Given the description of an element on the screen output the (x, y) to click on. 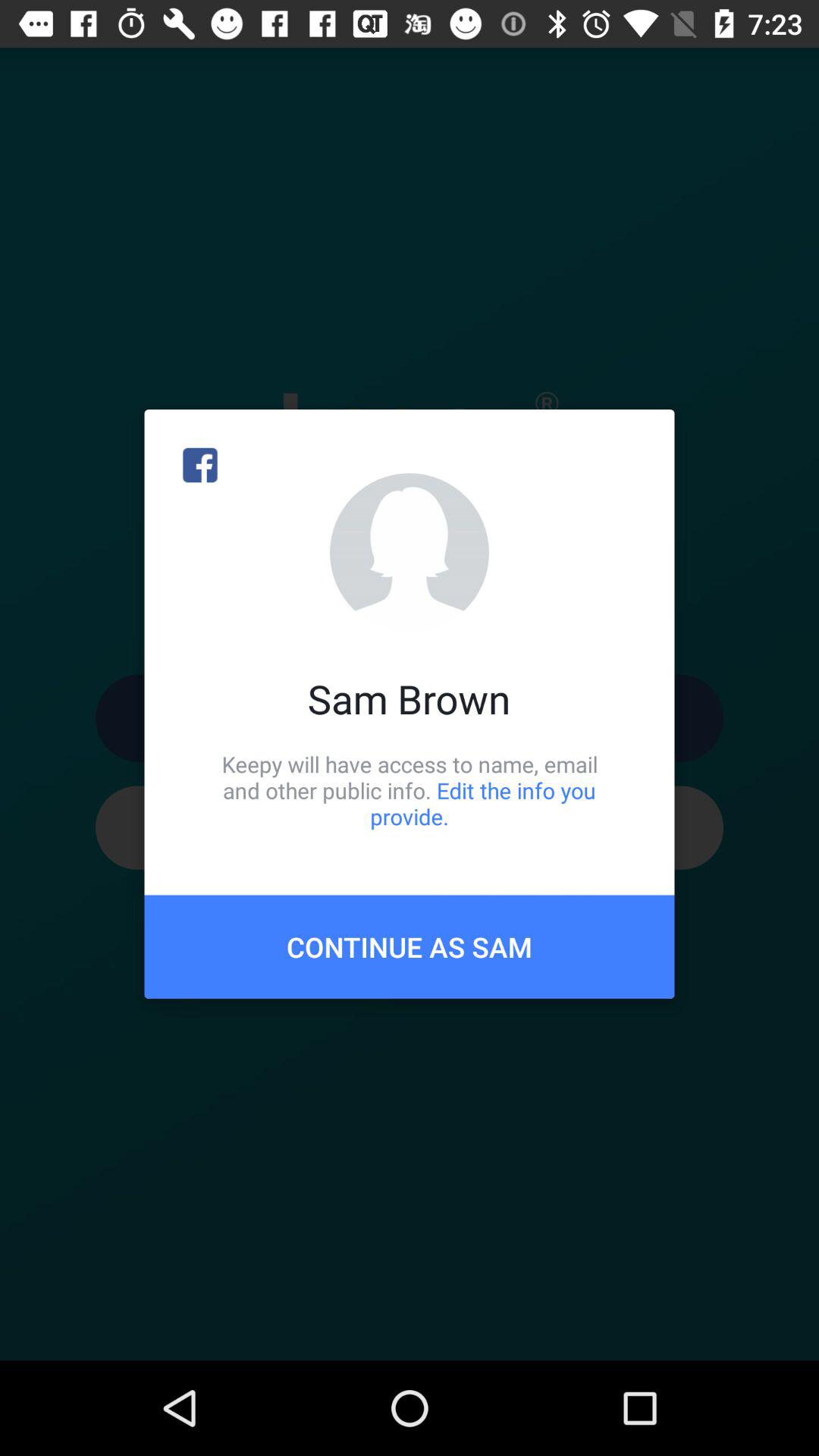
open item above the continue as sam (409, 790)
